Given the description of an element on the screen output the (x, y) to click on. 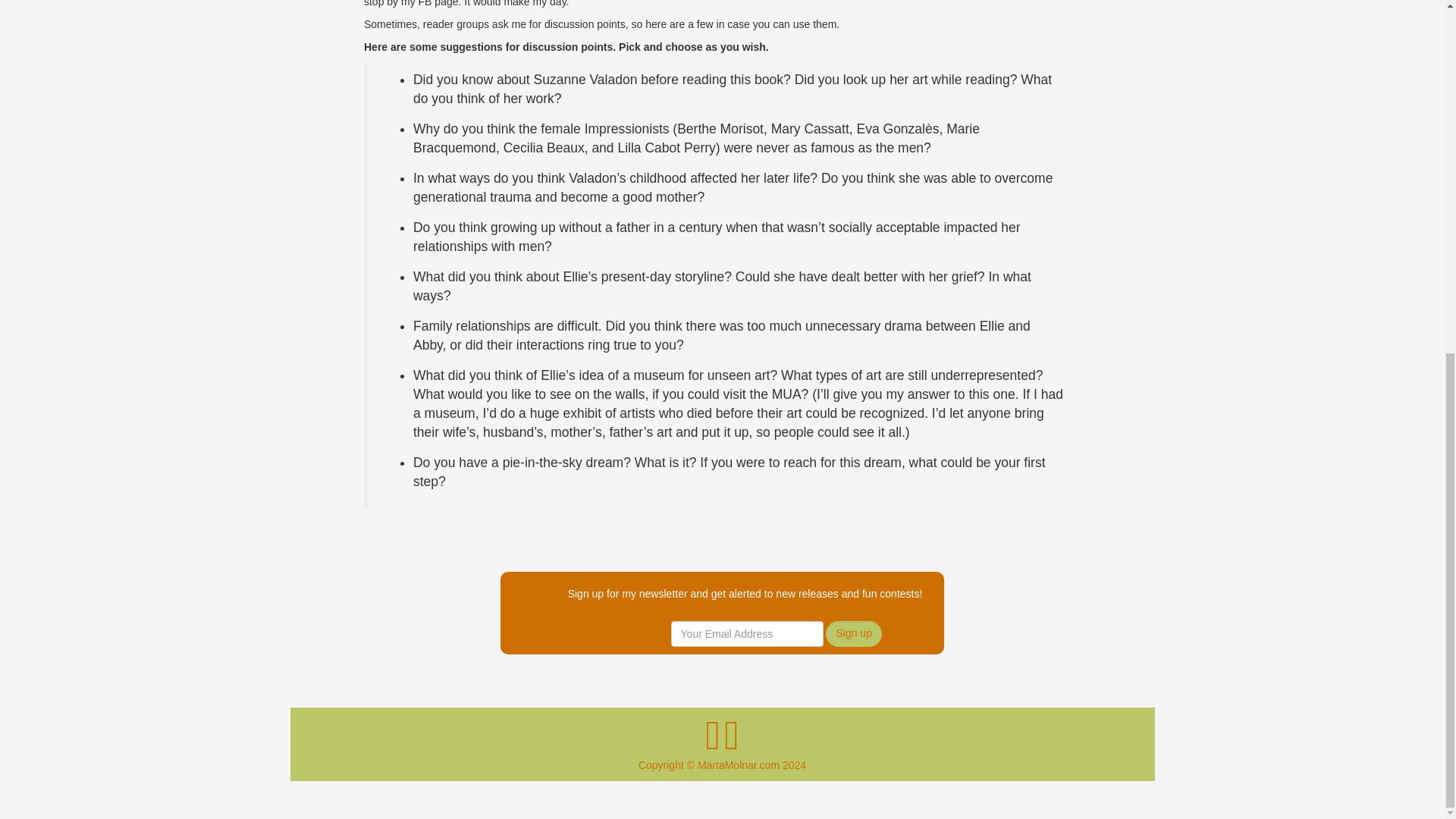
E-Mail (731, 744)
Sign up (852, 633)
Sign up (852, 633)
Facebook (712, 744)
